Given the description of an element on the screen output the (x, y) to click on. 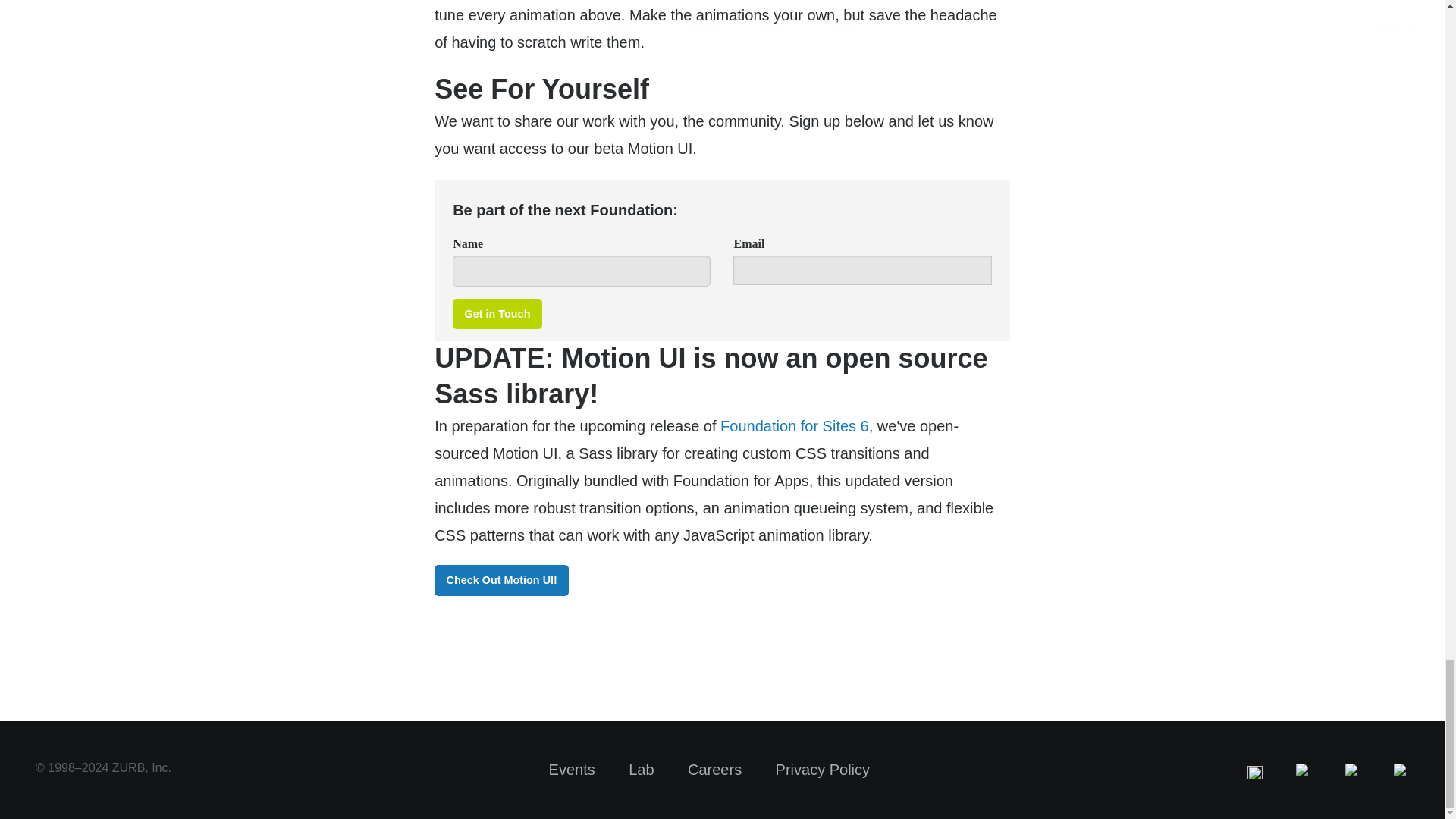
ZURB on Facebook (1303, 769)
Lab (640, 769)
Check Out Motion UI! (501, 580)
Careers (714, 769)
Privacy Policy (822, 769)
Events (571, 769)
ZURB on YouTube (1401, 769)
Get in Touch (496, 314)
Foundation for Sites 6 (794, 425)
Work at ZURB (714, 769)
